Given the description of an element on the screen output the (x, y) to click on. 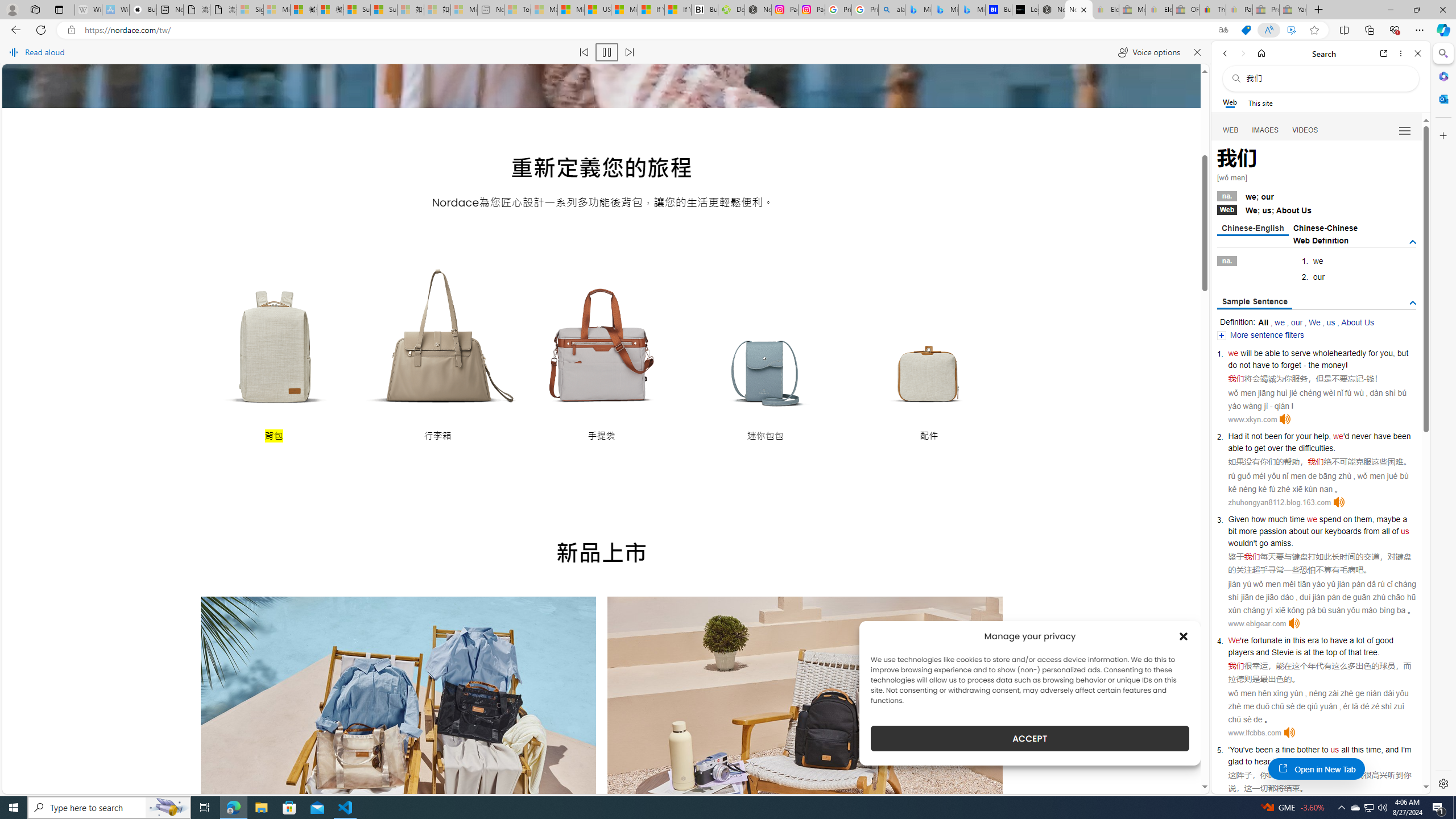
all (1344, 749)
- (1364, 378)
a (1277, 749)
time (1297, 519)
Press Room - eBay Inc. - Sleeping (1265, 9)
Voice options (1149, 52)
